Given the description of an element on the screen output the (x, y) to click on. 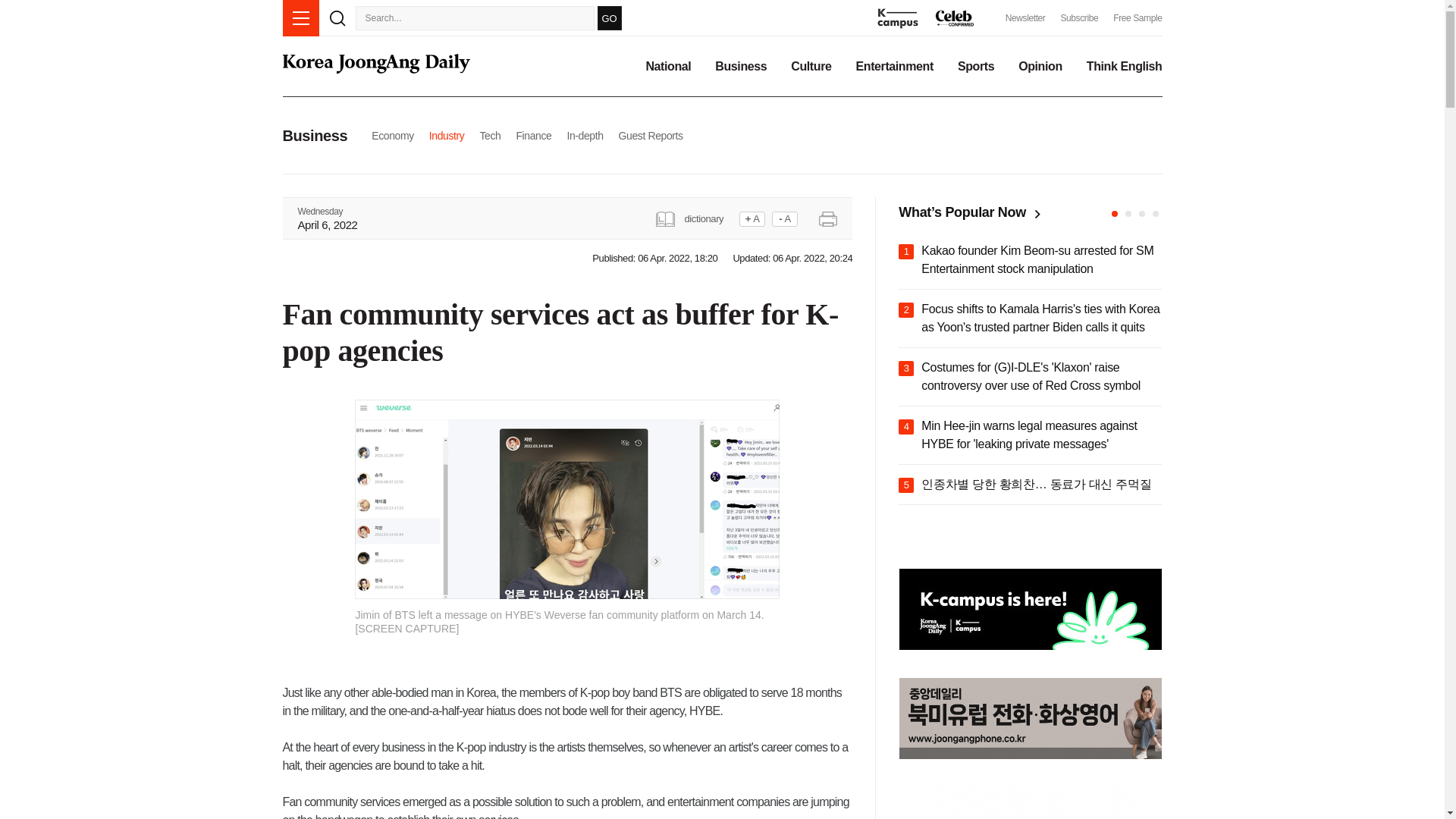
Tech (489, 135)
Entertainment (894, 66)
Tech (489, 135)
Free Sample (1137, 18)
GO (608, 17)
In-depth (584, 135)
National (667, 66)
Newsletter (1025, 18)
Culture (810, 66)
Sports (976, 66)
Think English (1123, 66)
In-depth (584, 135)
Finance (533, 135)
Guest Reports (650, 135)
Opinion (1039, 66)
